Given the description of an element on the screen output the (x, y) to click on. 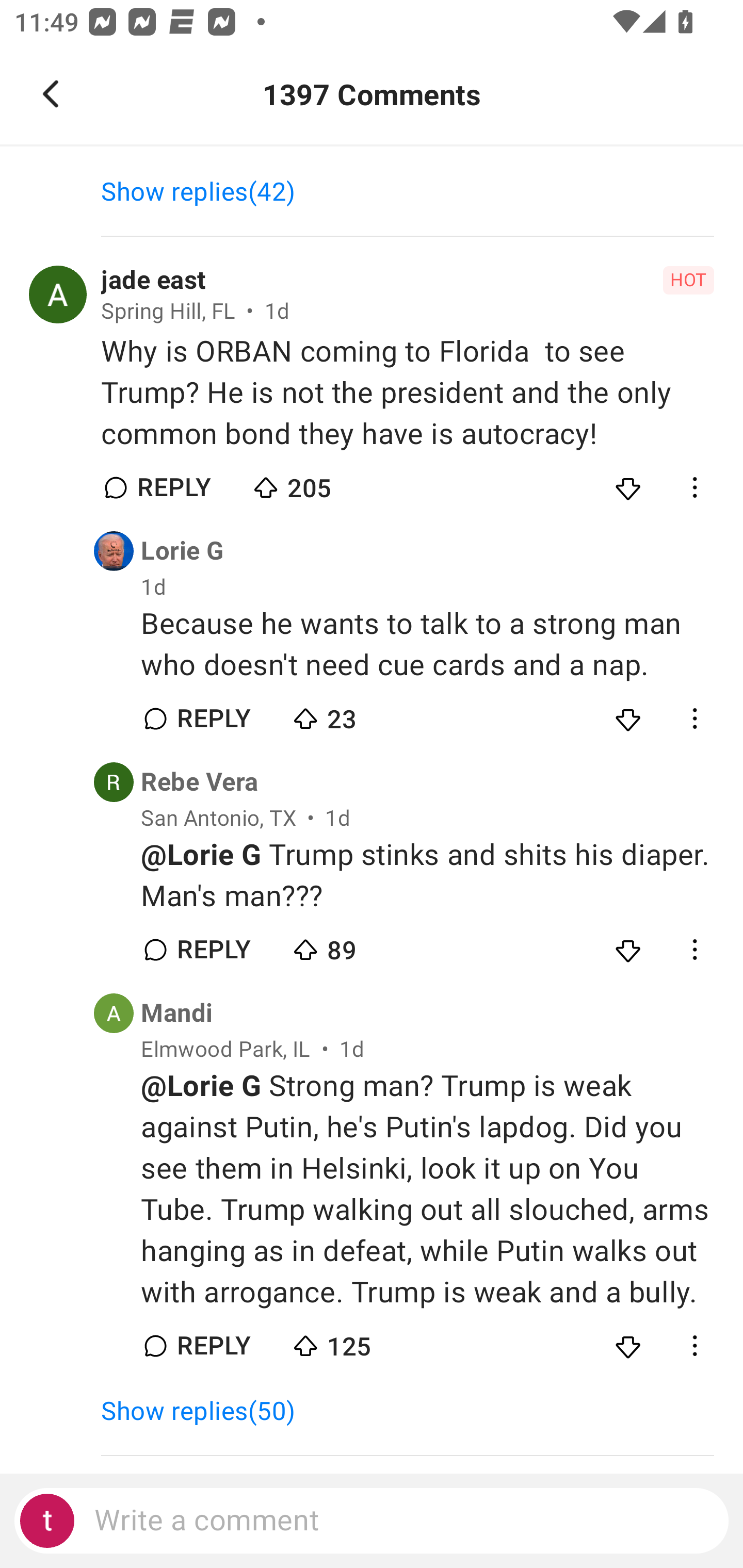
Navigate up (50, 93)
Show replies(42) (207, 192)
jade east (153, 279)
205 (320, 483)
REPLY (173, 487)
Lorie G (182, 551)
23 (360, 714)
REPLY (213, 718)
Rebe Vera (199, 781)
89 (360, 945)
REPLY (213, 949)
Mandi (177, 1013)
125 (360, 1341)
REPLY (213, 1346)
Show replies(50) (207, 1411)
Write a comment (371, 1520)
